Given the description of an element on the screen output the (x, y) to click on. 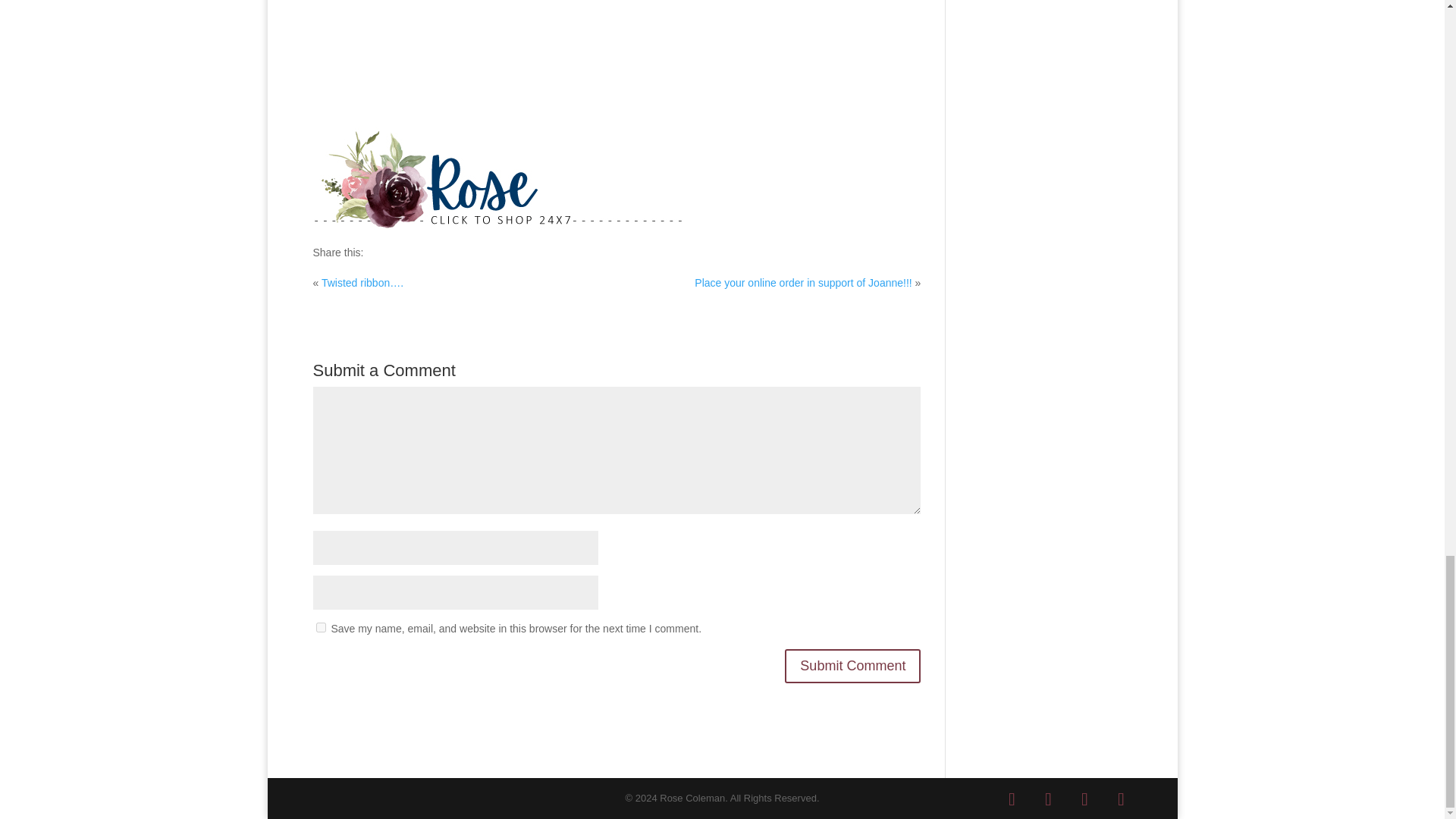
Submit Comment (852, 666)
Place your online order in support of Joanne!!! (802, 282)
Submit Comment (852, 666)
yes (319, 627)
